Given the description of an element on the screen output the (x, y) to click on. 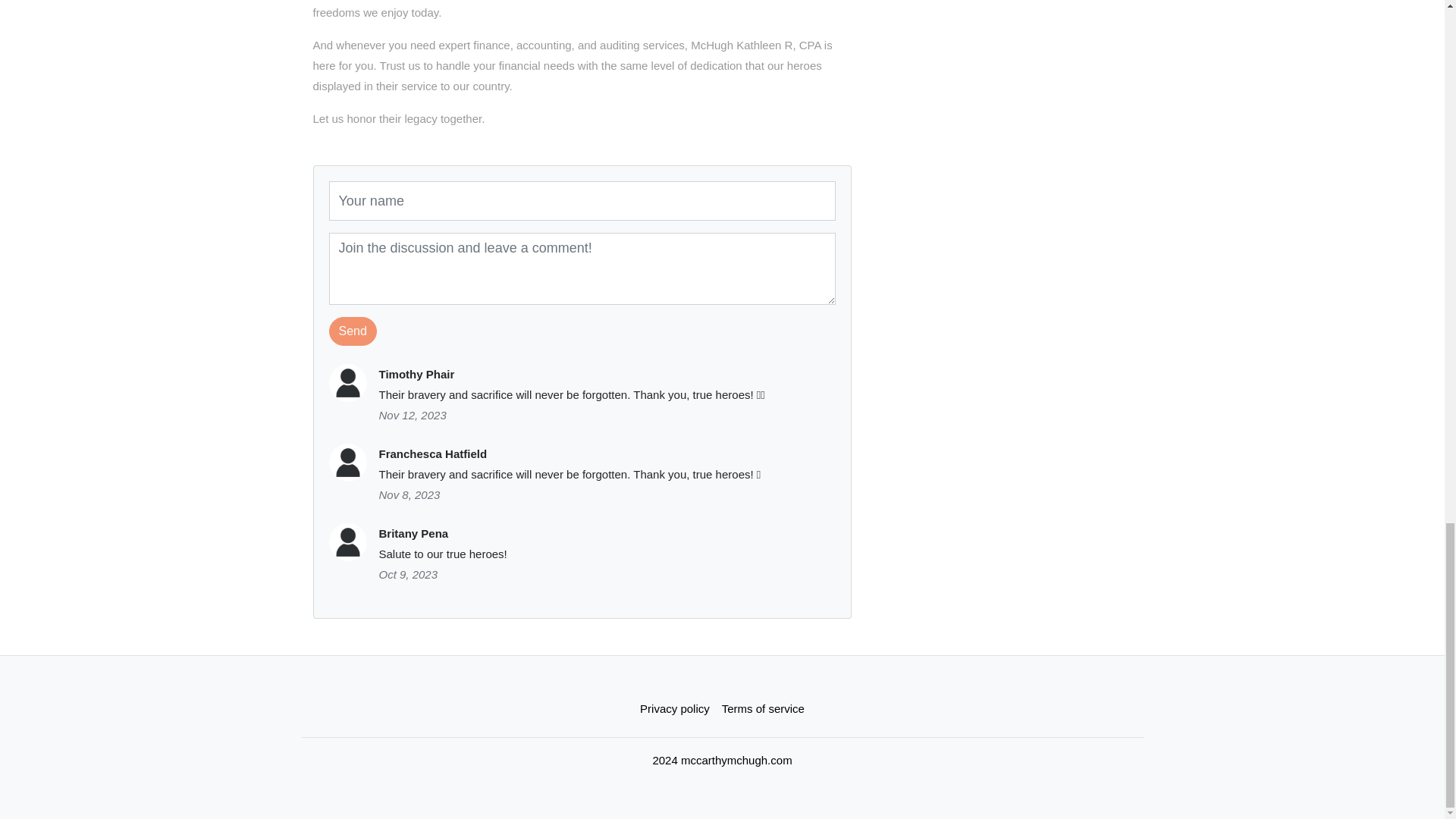
Send (353, 330)
Send (353, 330)
Privacy policy (674, 708)
Terms of service (763, 708)
